Given the description of an element on the screen output the (x, y) to click on. 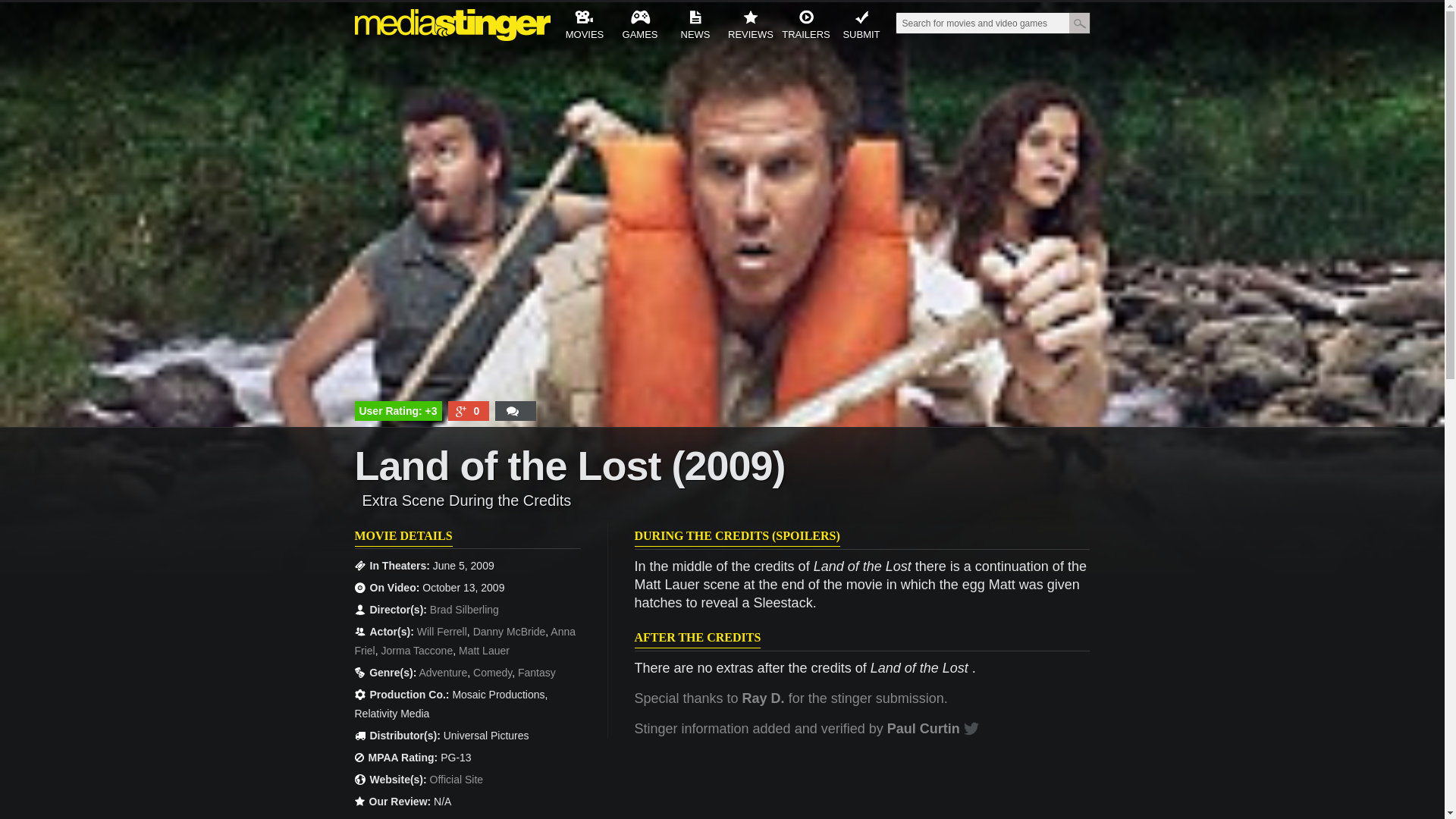
MOVIES (583, 26)
Search for movies and video games (981, 23)
